Given the description of an element on the screen output the (x, y) to click on. 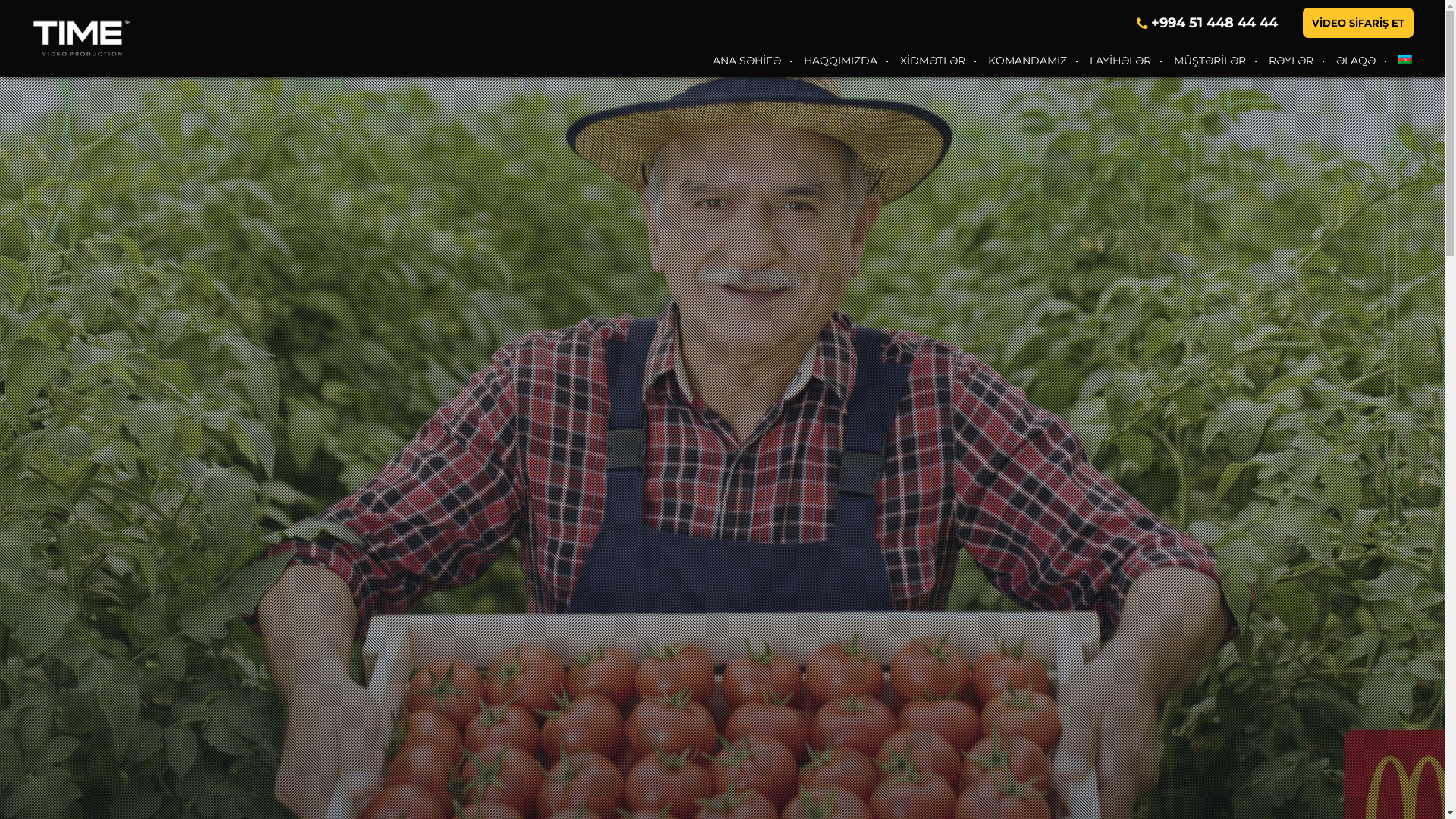
KOMANDAMIZ Element type: text (1027, 60)
HAQQIMIZDA Element type: text (840, 60)
+994 51 448 44 44 Element type: text (1214, 21)
